Given the description of an element on the screen output the (x, y) to click on. 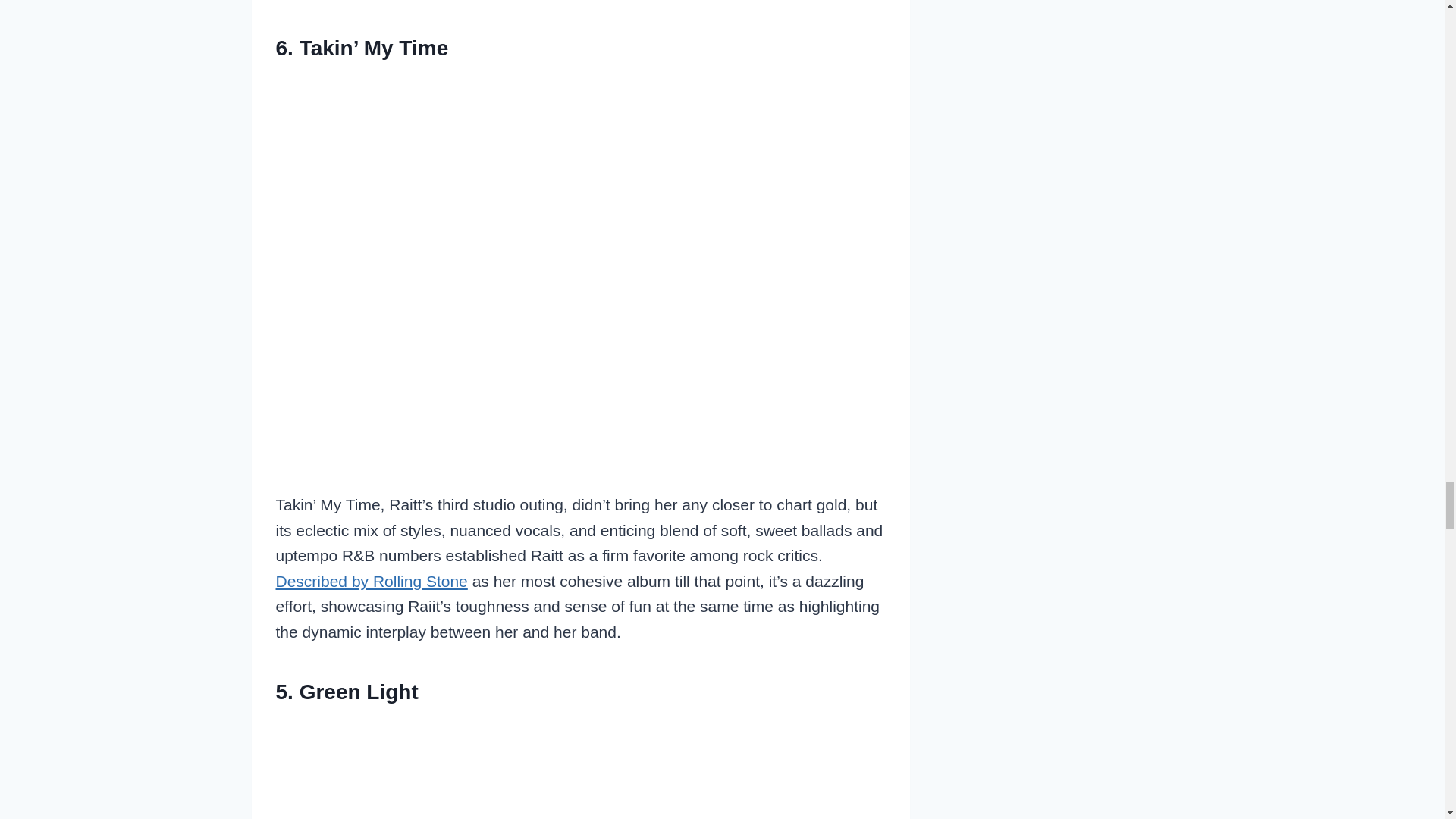
Described by Rolling Stone (371, 580)
BONNIE RAITT - Keep This Heart in Mind (581, 769)
